Given the description of an element on the screen output the (x, y) to click on. 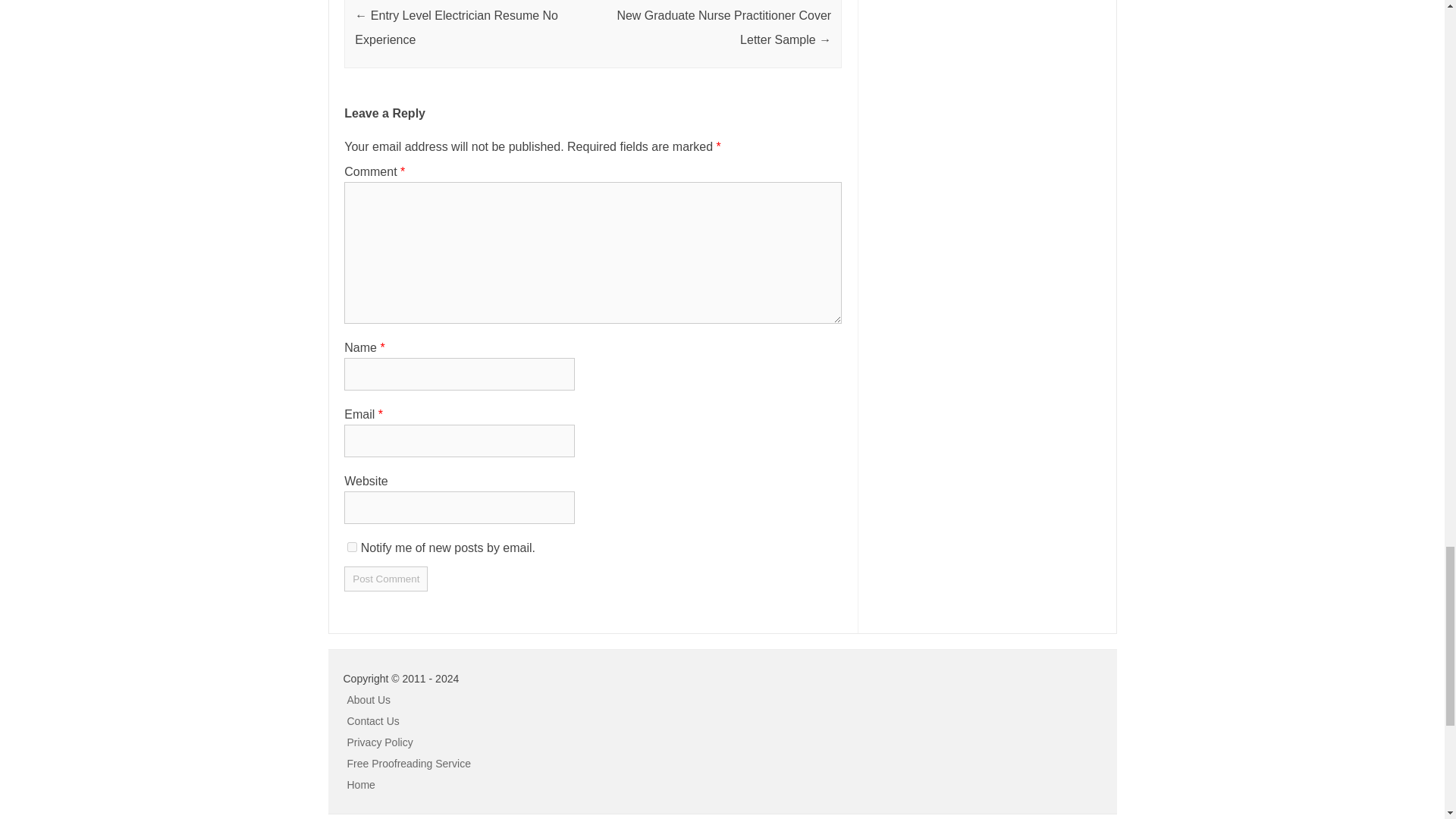
Privacy Policy (380, 742)
Home (361, 784)
Post Comment (385, 578)
Contact Us (372, 720)
Free Proofreading Service (408, 763)
About Us (369, 699)
Post Comment (385, 578)
subscribe (351, 547)
